Given the description of an element on the screen output the (x, y) to click on. 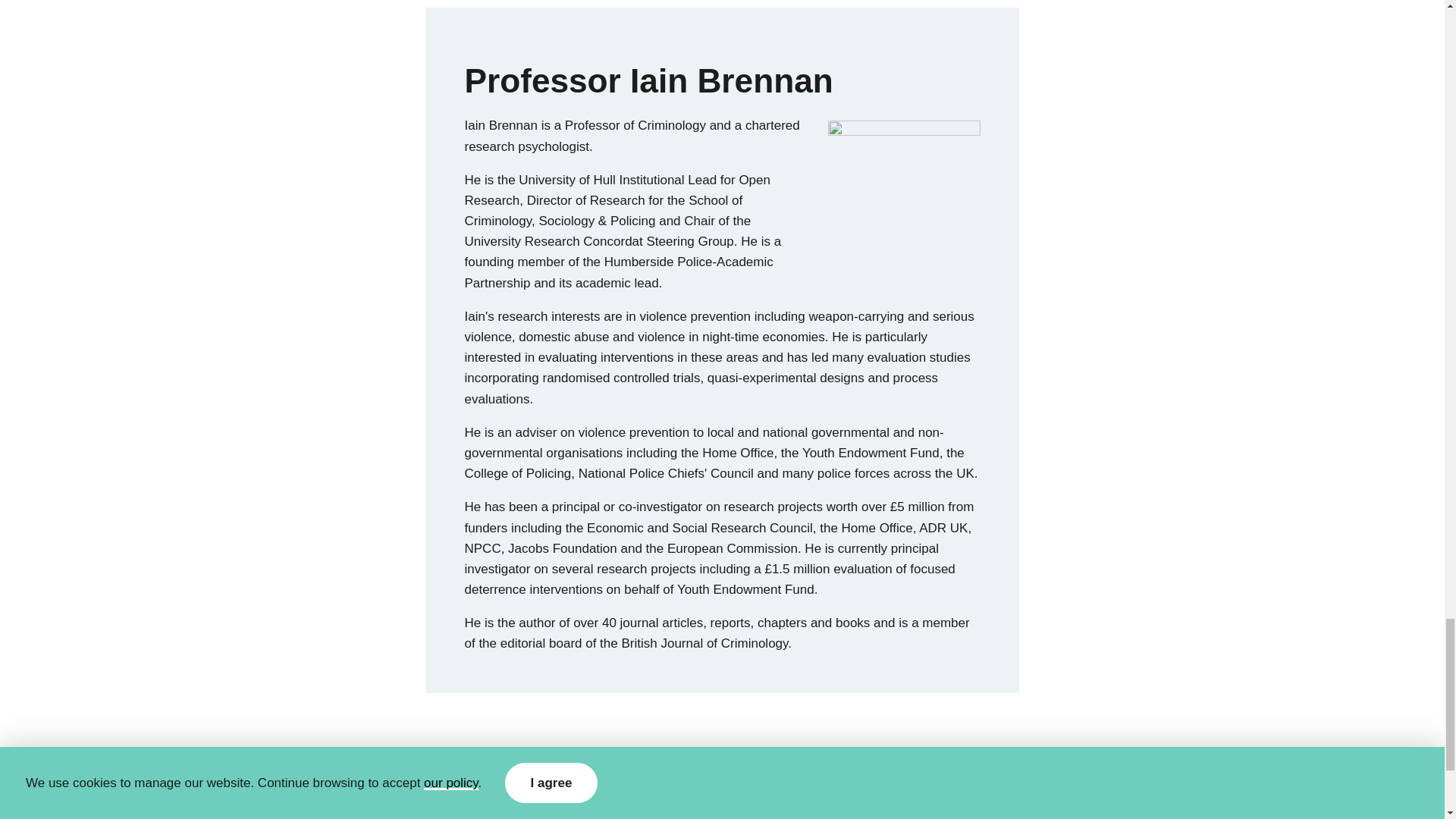
Search (739, 802)
Sitemap (684, 802)
Sitemap (684, 802)
Requesting Information (449, 802)
Search (739, 802)
ADR UK on LinkedIn (1124, 804)
Accessibility Statement (587, 802)
Requesting Information (449, 802)
Accessibility Statement (587, 802)
